Given the description of an element on the screen output the (x, y) to click on. 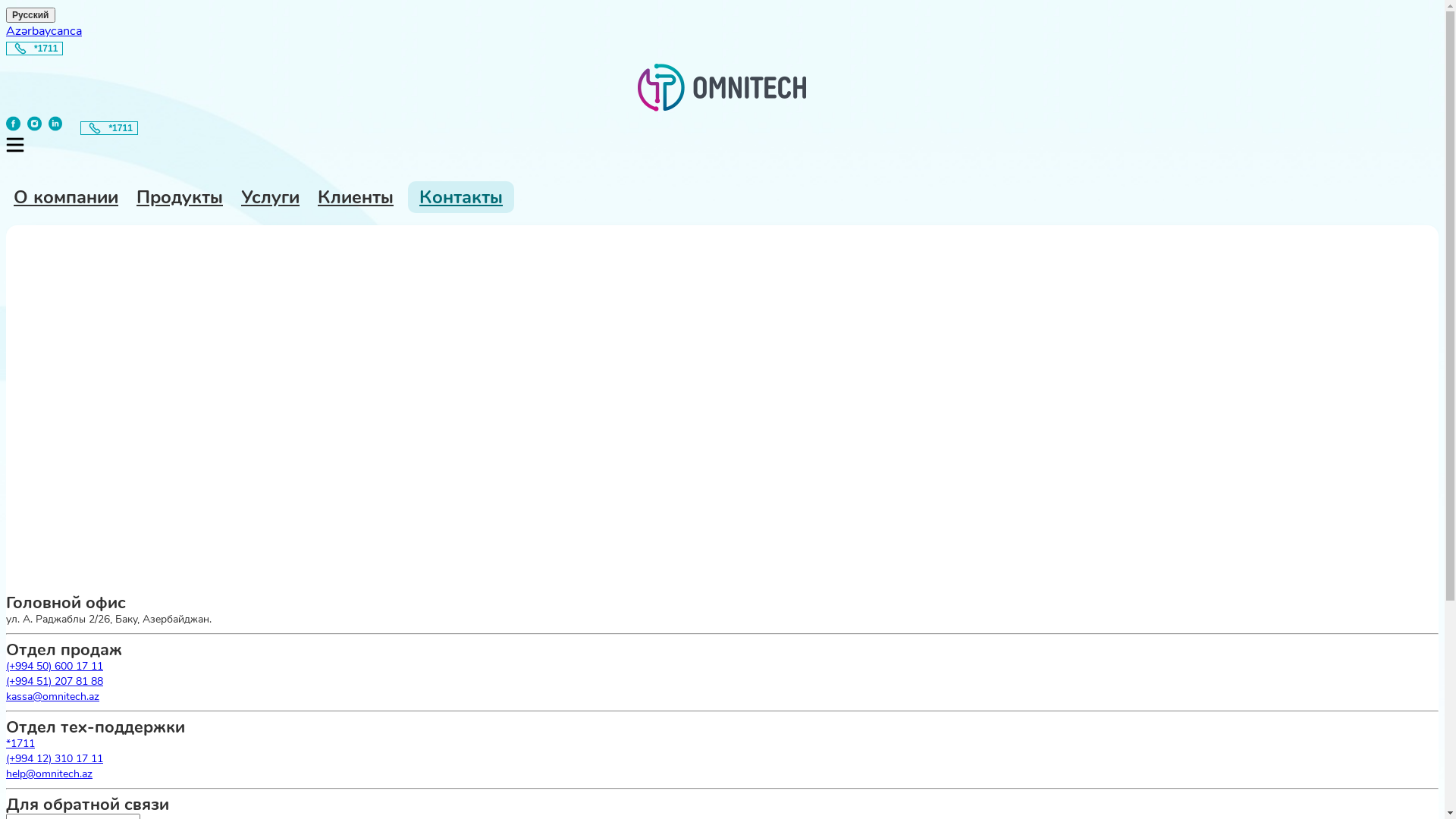
(+994 50) 600 17 11 Element type: text (54, 665)
(+994 12) 310 17 11 Element type: text (54, 758)
help@omnitech.az Element type: text (49, 773)
*1711 Element type: text (108, 127)
kassa@omnitech.az Element type: text (52, 696)
*1711 Element type: text (34, 48)
(+994 51) 207 81 88 Element type: text (54, 681)
*1711 Element type: text (20, 743)
*1711 Element type: text (34, 47)
*1711 Element type: text (108, 127)
